Given the description of an element on the screen output the (x, y) to click on. 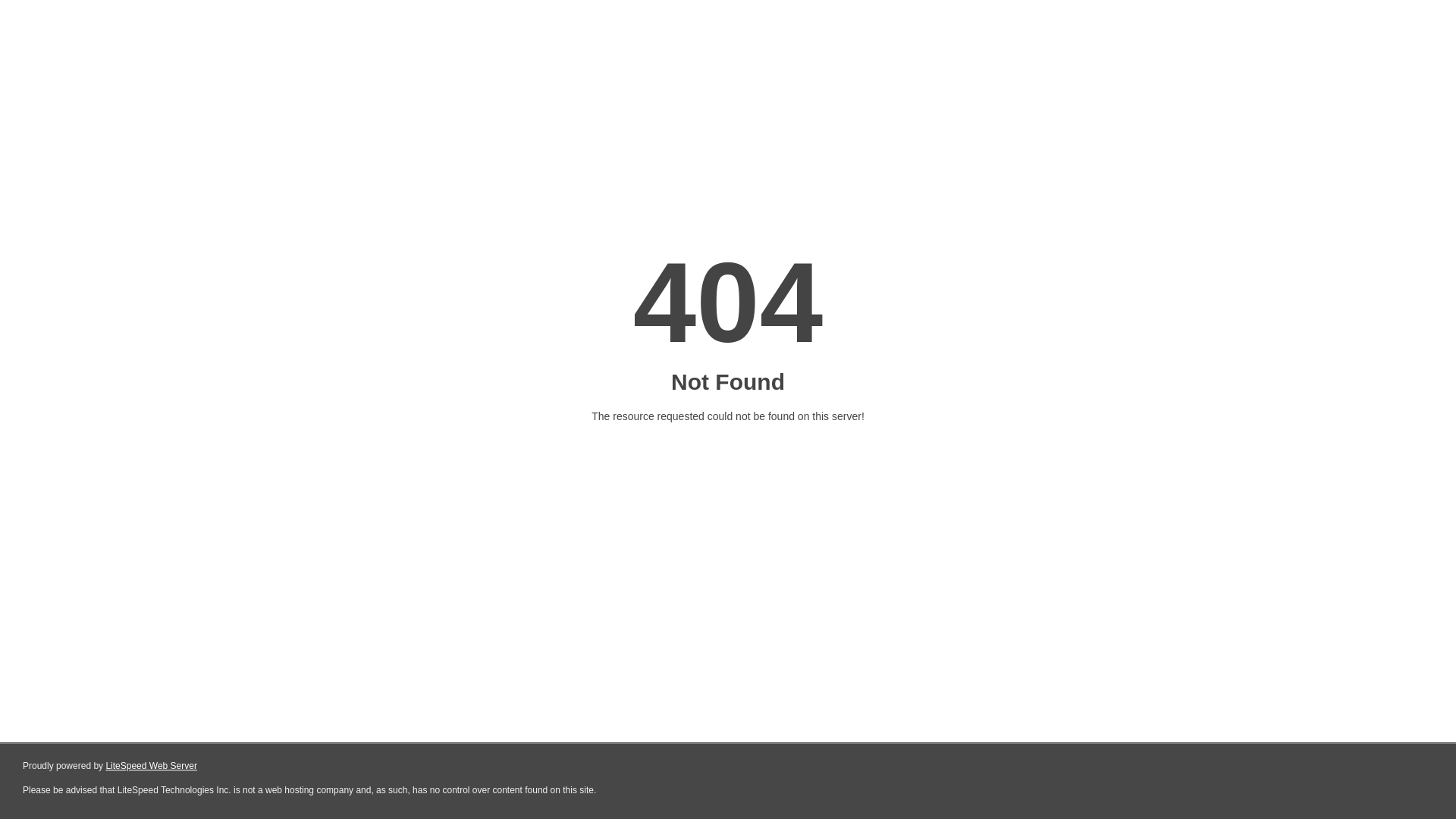
LiteSpeed Web Server Element type: text (151, 765)
